Given the description of an element on the screen output the (x, y) to click on. 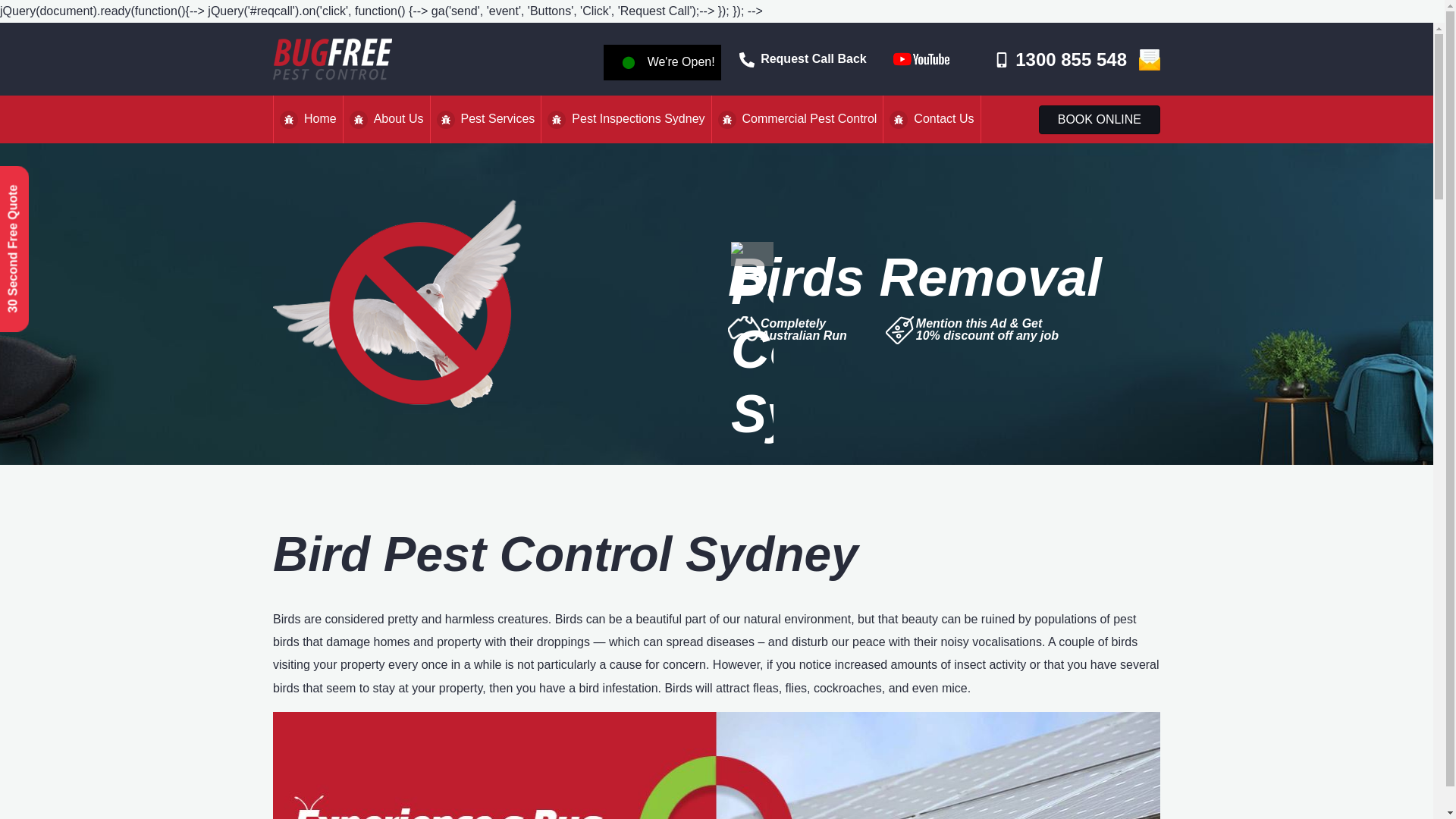
Request Call Back (802, 58)
Home (307, 118)
About Us (385, 118)
1300 855 548 (1060, 58)
Pest Services (484, 118)
